Given the description of an element on the screen output the (x, y) to click on. 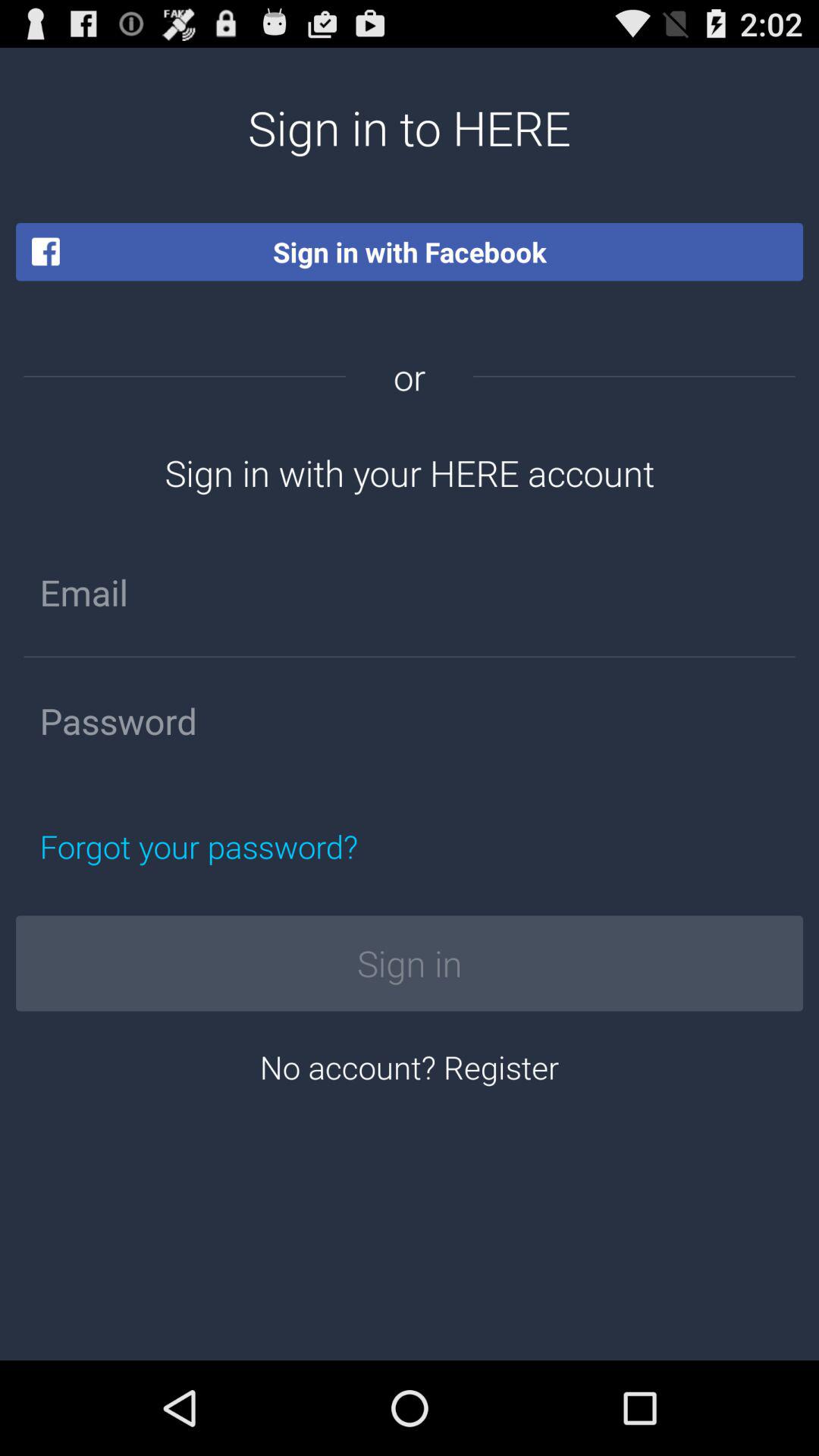
press forgot your password? on the left (269, 845)
